Given the description of an element on the screen output the (x, y) to click on. 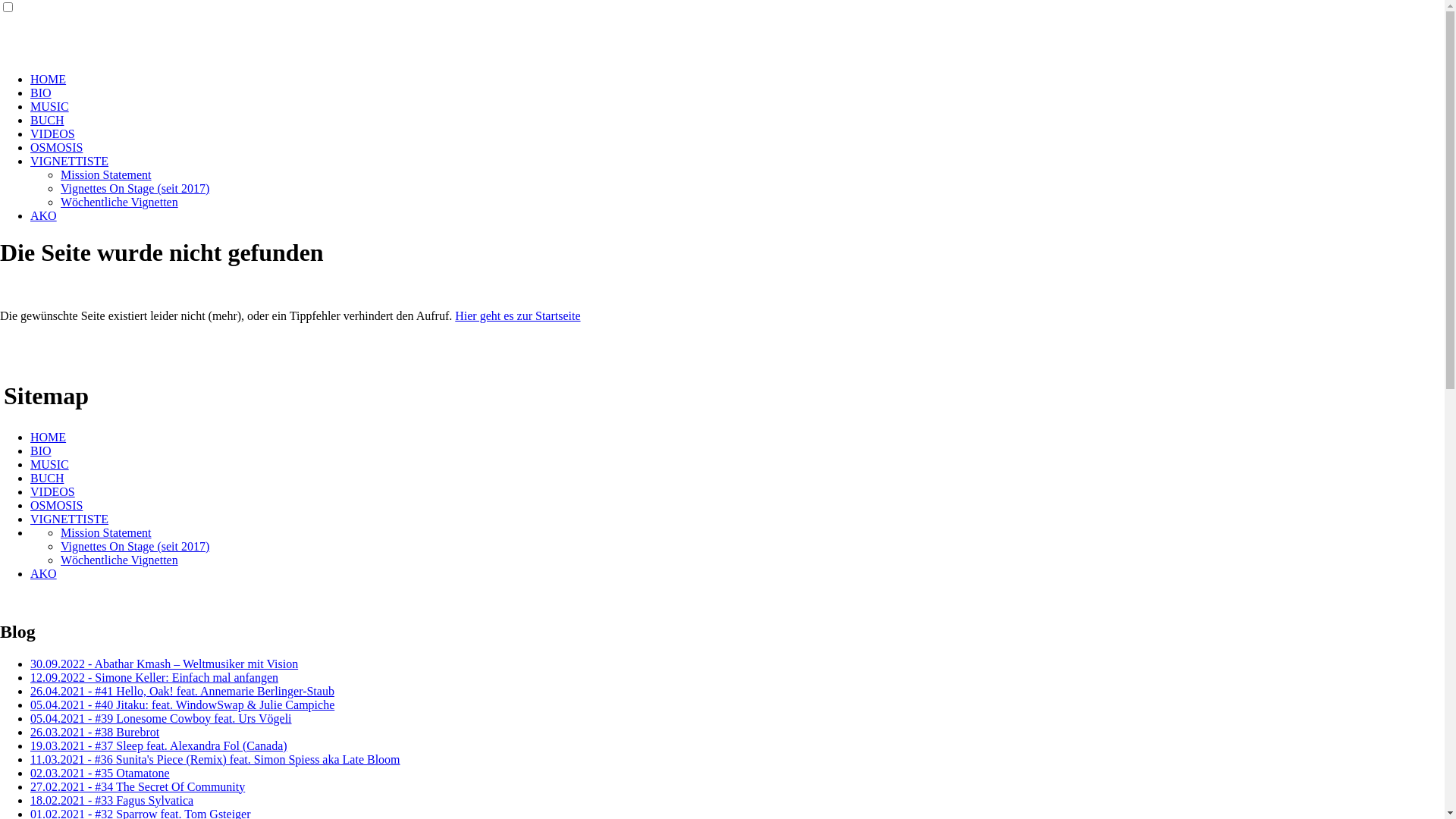
BIO Element type: text (40, 92)
19.03.2021 - #37 Sleep feat. Alexandra Fol (Canada) Element type: text (158, 745)
02.03.2021 - #35 Otamatone Element type: text (99, 772)
HOME Element type: text (47, 436)
Hier geht es zur Startseite Element type: text (517, 315)
HOME Element type: text (47, 78)
27.02.2021 - #34 The Secret Of Community Element type: text (137, 786)
26.04.2021 - #41 Hello, Oak! feat. Annemarie Berlinger-Staub Element type: text (182, 690)
VIGNETTISTE Element type: text (69, 160)
BUCH Element type: text (46, 477)
26.03.2021 - #38 Burebrot Element type: text (94, 731)
OSMOSIS Element type: text (56, 504)
MUSIC Element type: text (49, 464)
18.02.2021 - #33 Fagus Sylvatica Element type: text (111, 799)
OSMOSIS Element type: text (56, 147)
BIO Element type: text (40, 450)
05.04.2021 - #40 Jitaku: feat. WindowSwap & Julie Campiche Element type: text (182, 704)
Vignettes On Stage (seit 2017) Element type: text (134, 188)
VIDEOS Element type: text (52, 491)
Mission Statement Element type: text (105, 174)
VIDEOS Element type: text (52, 133)
Vignettes On Stage (seit 2017) Element type: text (134, 545)
AKO Element type: text (43, 573)
VIGNETTISTE Element type: text (69, 518)
AKO Element type: text (43, 215)
Mission Statement Element type: text (105, 532)
MUSIC Element type: text (49, 106)
12.09.2022 - Simone Keller: Einfach mal anfangen Element type: text (154, 677)
BUCH Element type: text (46, 119)
